Given the description of an element on the screen output the (x, y) to click on. 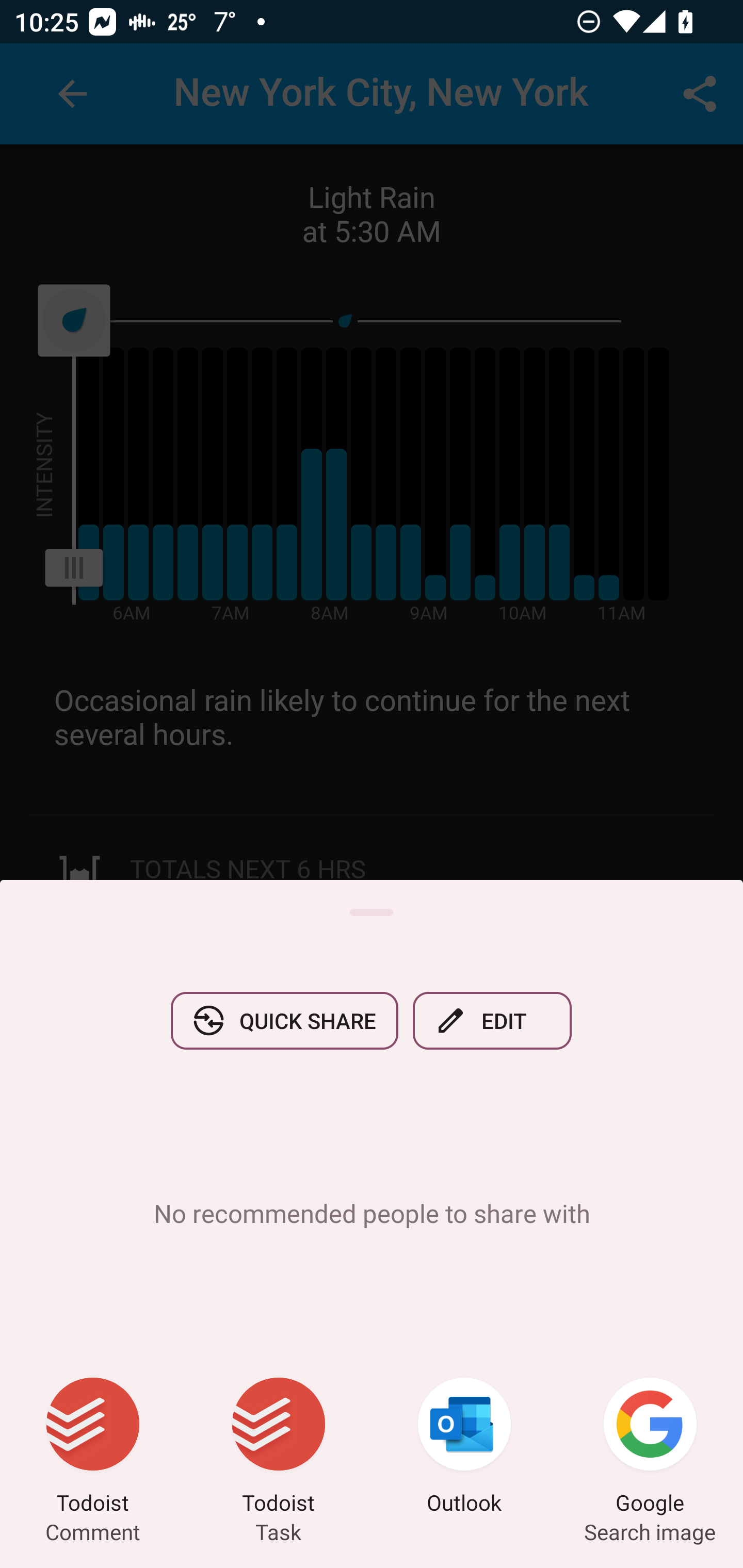
QUICK SHARE (284, 1020)
EDIT (492, 1020)
Todoist Comment (92, 1448)
Todoist Task (278, 1448)
Outlook (464, 1448)
Google Search image (650, 1448)
